Given the description of an element on the screen output the (x, y) to click on. 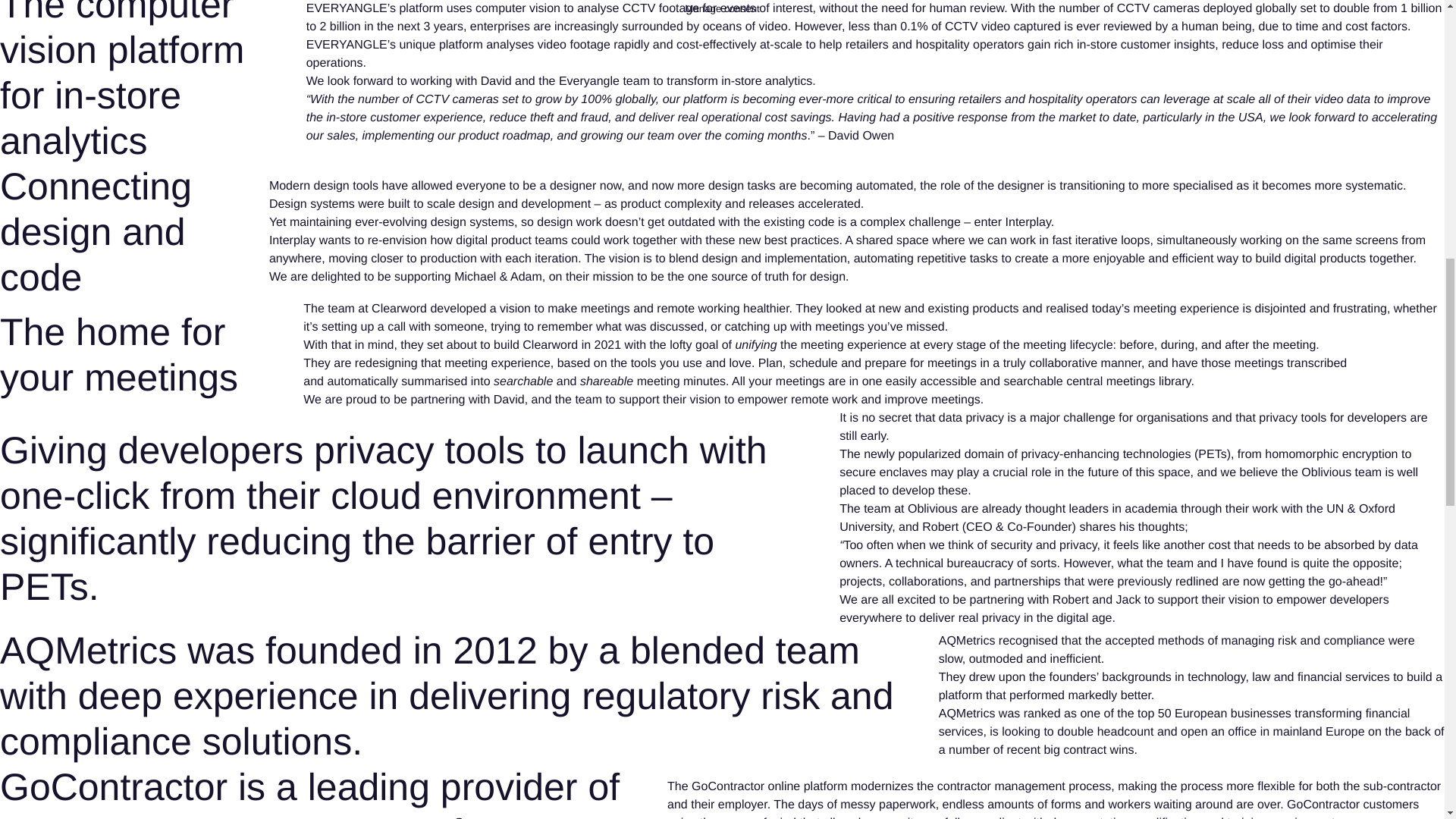
every stage of the meeting lifecycle (1018, 345)
Interplay (1028, 222)
Europe (1344, 731)
Adam (526, 277)
Michael (475, 277)
